Given the description of an element on the screen output the (x, y) to click on. 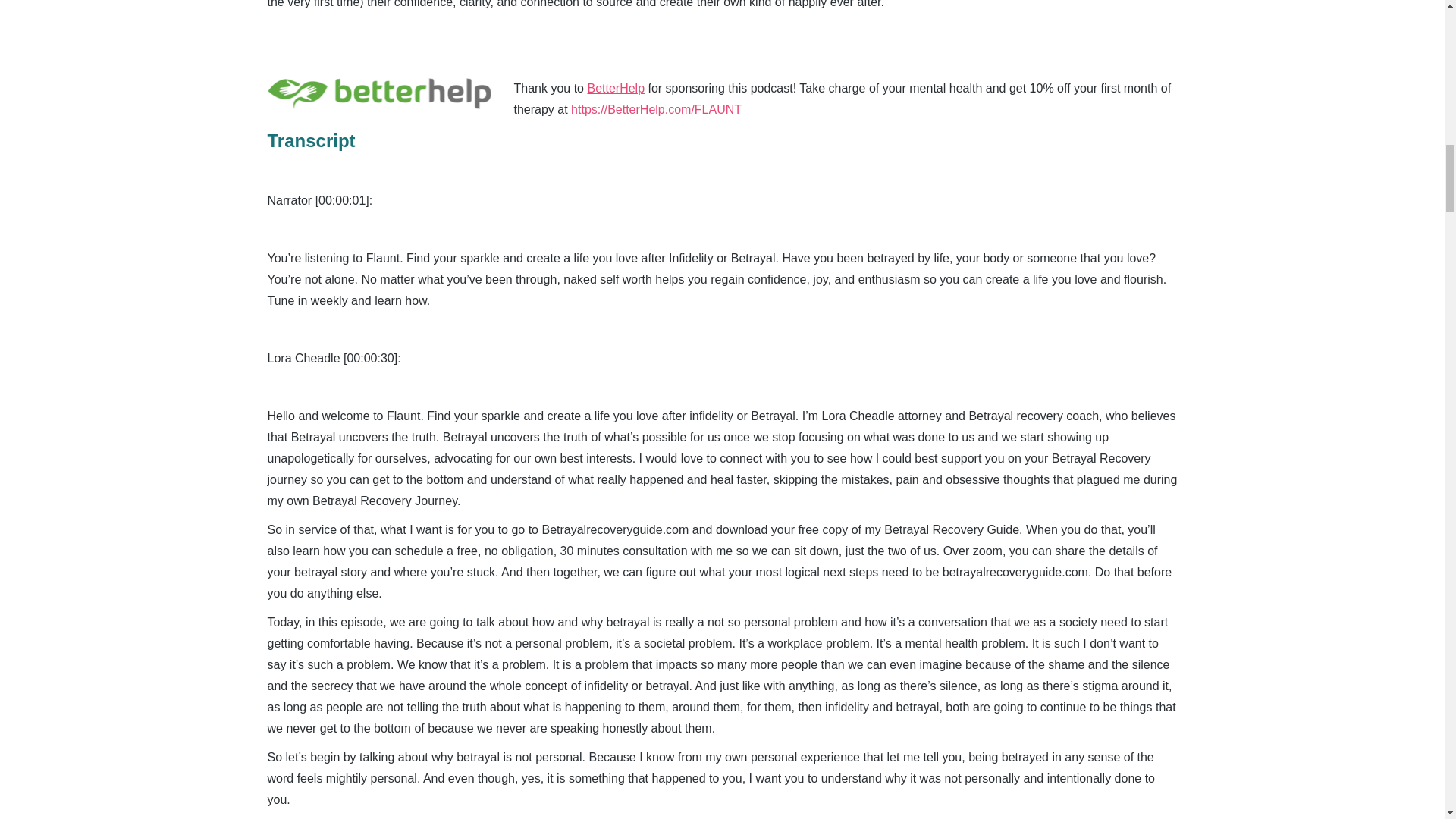
BetterHelp (615, 88)
